Given the description of an element on the screen output the (x, y) to click on. 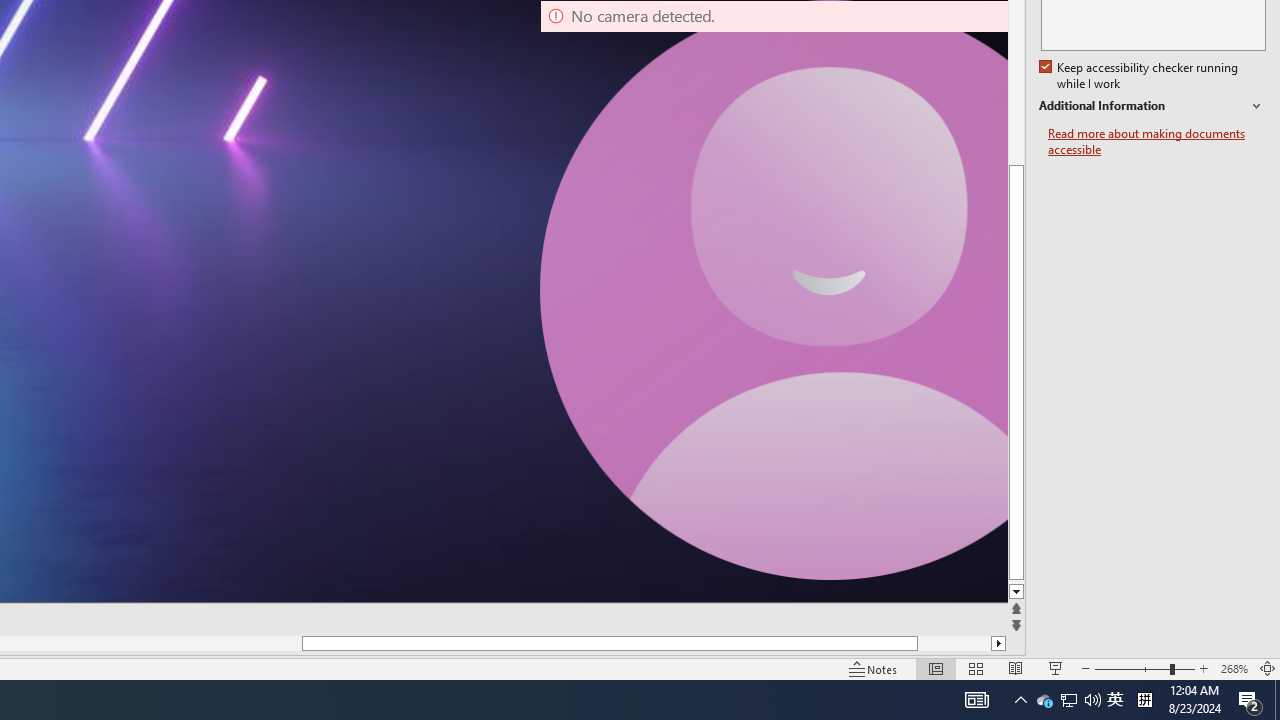
Zoom 268% (1234, 668)
